Given the description of an element on the screen output the (x, y) to click on. 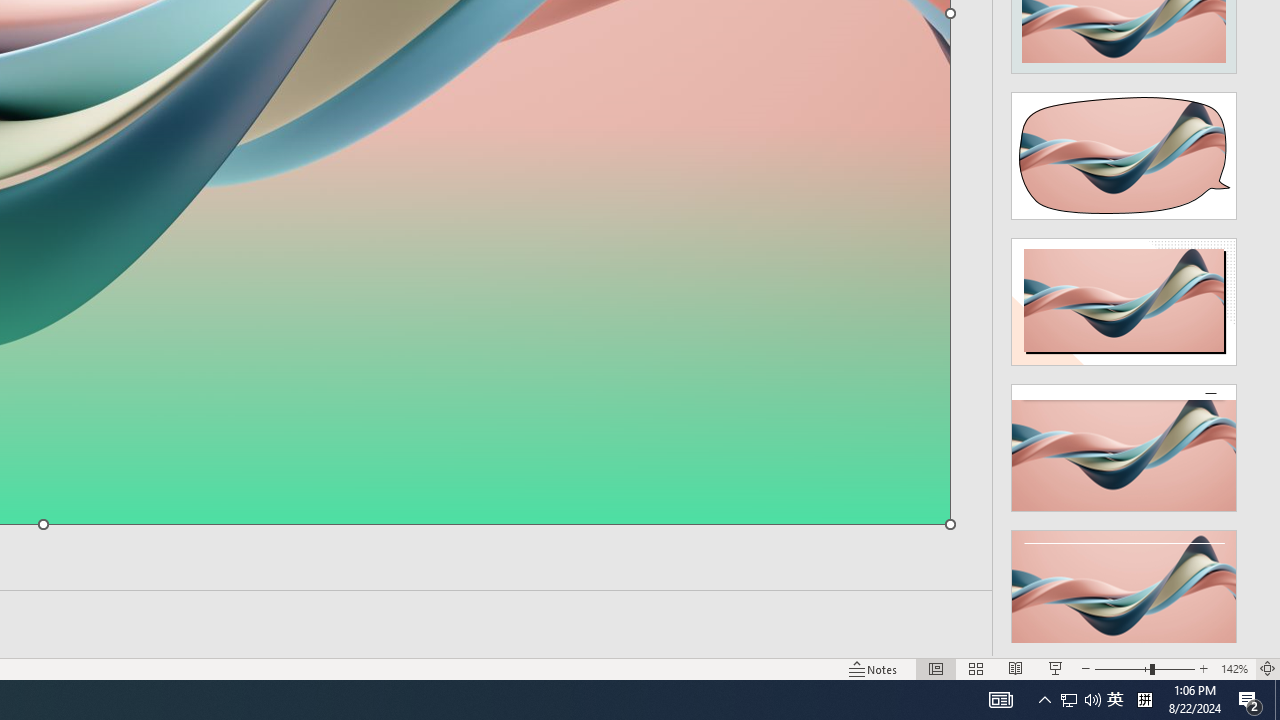
Zoom 142% (1234, 668)
